Given the description of an element on the screen output the (x, y) to click on. 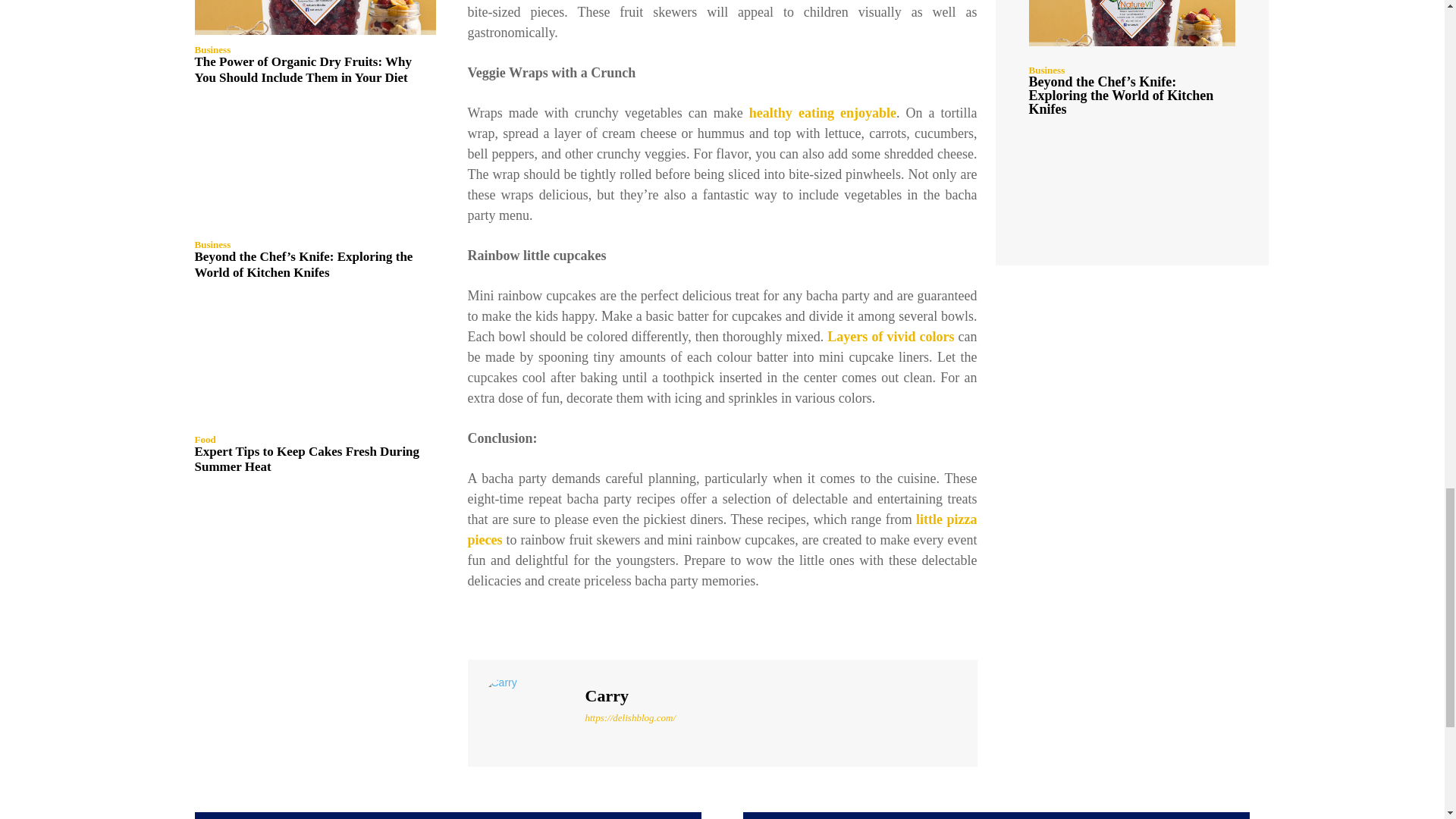
Business (211, 244)
Business (211, 49)
